Given the description of an element on the screen output the (x, y) to click on. 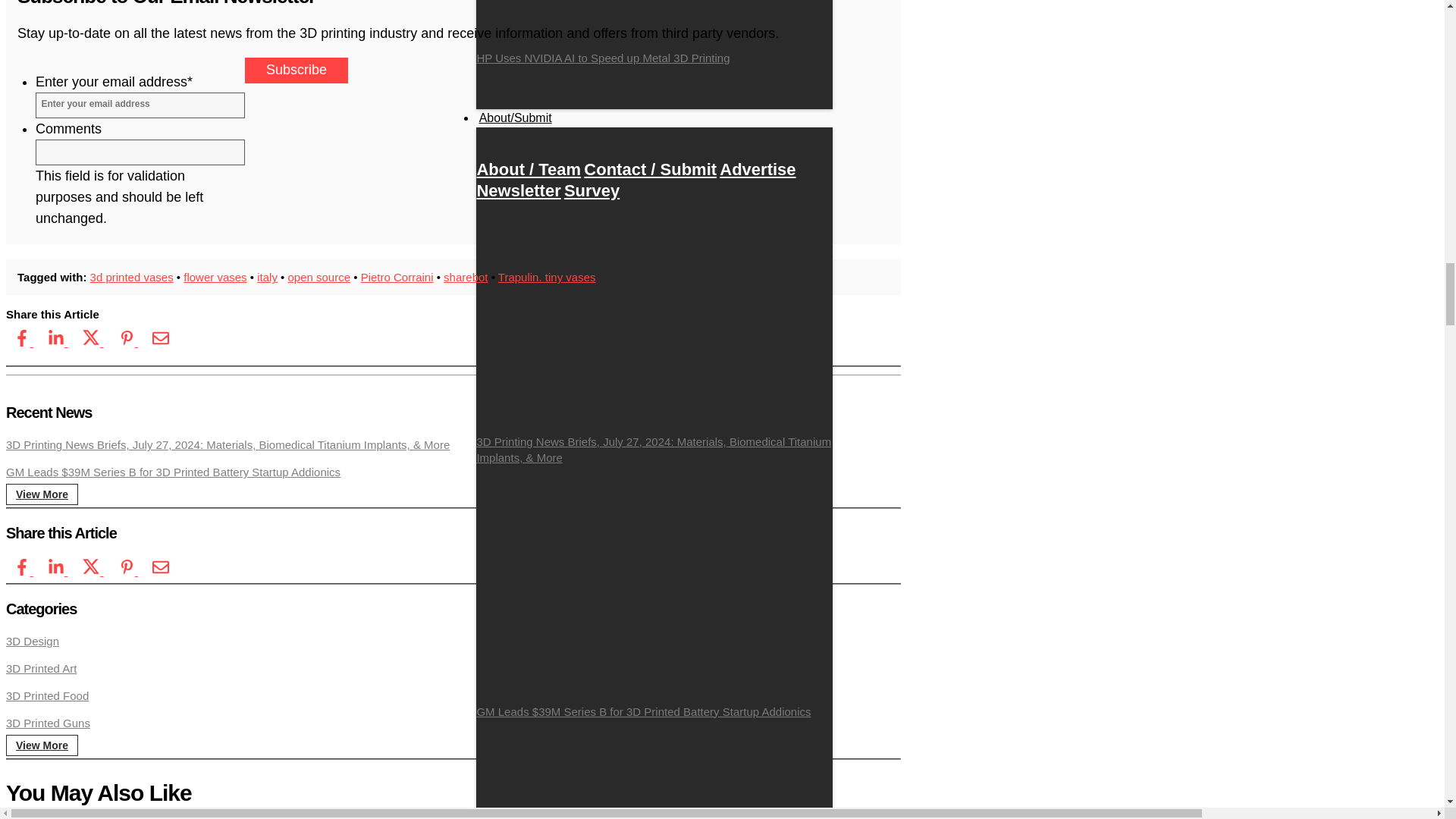
Subscribe (295, 70)
